Given the description of an element on the screen output the (x, y) to click on. 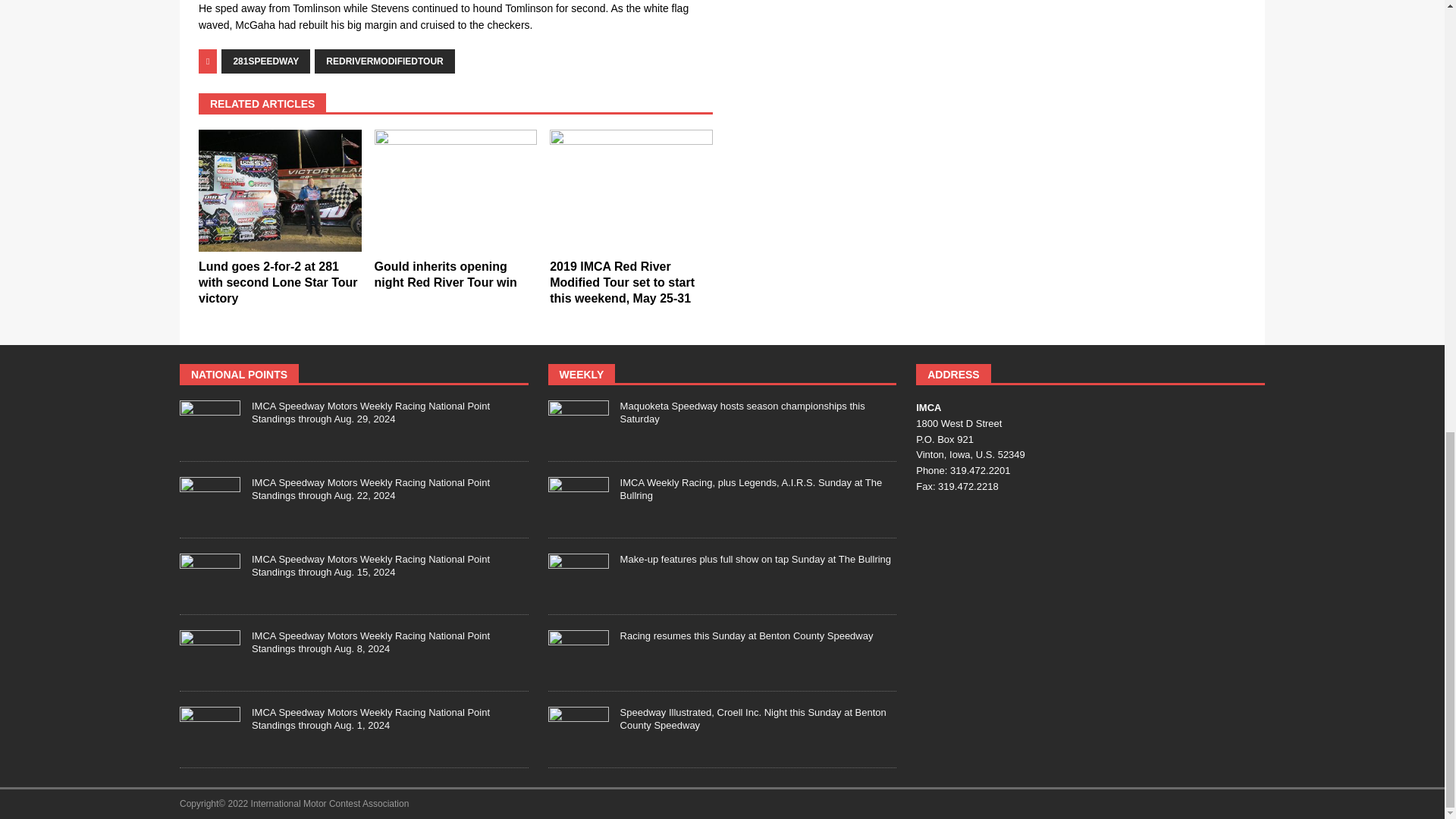
Gould inherits opening night Red River Tour win (445, 274)
Lund goes 2-for-2 at 281 with second Lone Star Tour victory (278, 282)
Gould inherits opening night Red River Tour win (455, 190)
Lund goes 2-for-2 at 281 with second Lone Star Tour victory (279, 190)
